Given the description of an element on the screen output the (x, y) to click on. 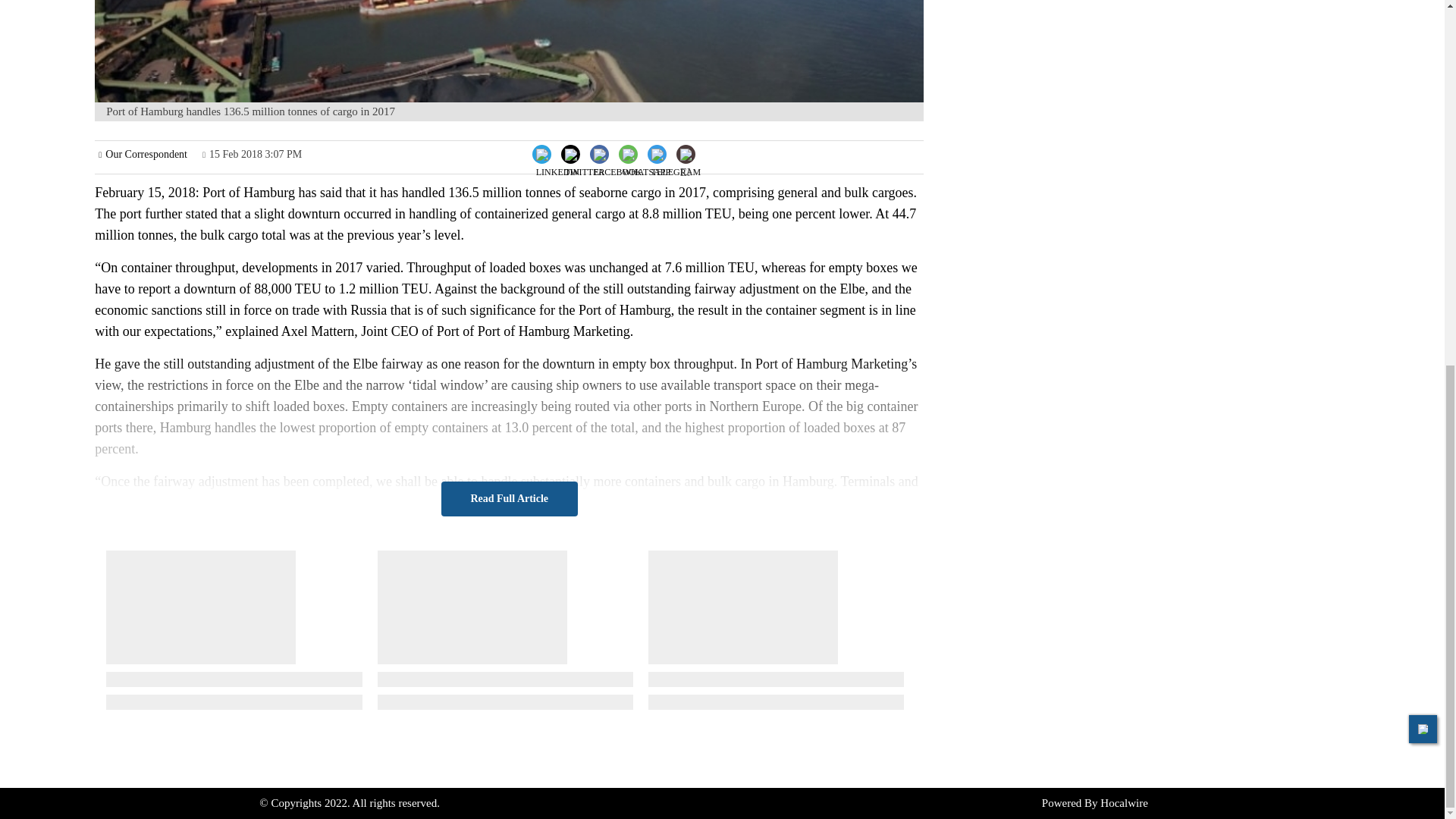
whatsapp (646, 165)
Port of Hamburg handles 136.5MT  of cargo in 2017 (508, 51)
telegram (675, 165)
twitter (584, 165)
Facebook (617, 152)
Share by Email (686, 155)
linkedin (557, 165)
facebook (618, 165)
Twitter (584, 152)
LinkedIn (557, 152)
